Given the description of an element on the screen output the (x, y) to click on. 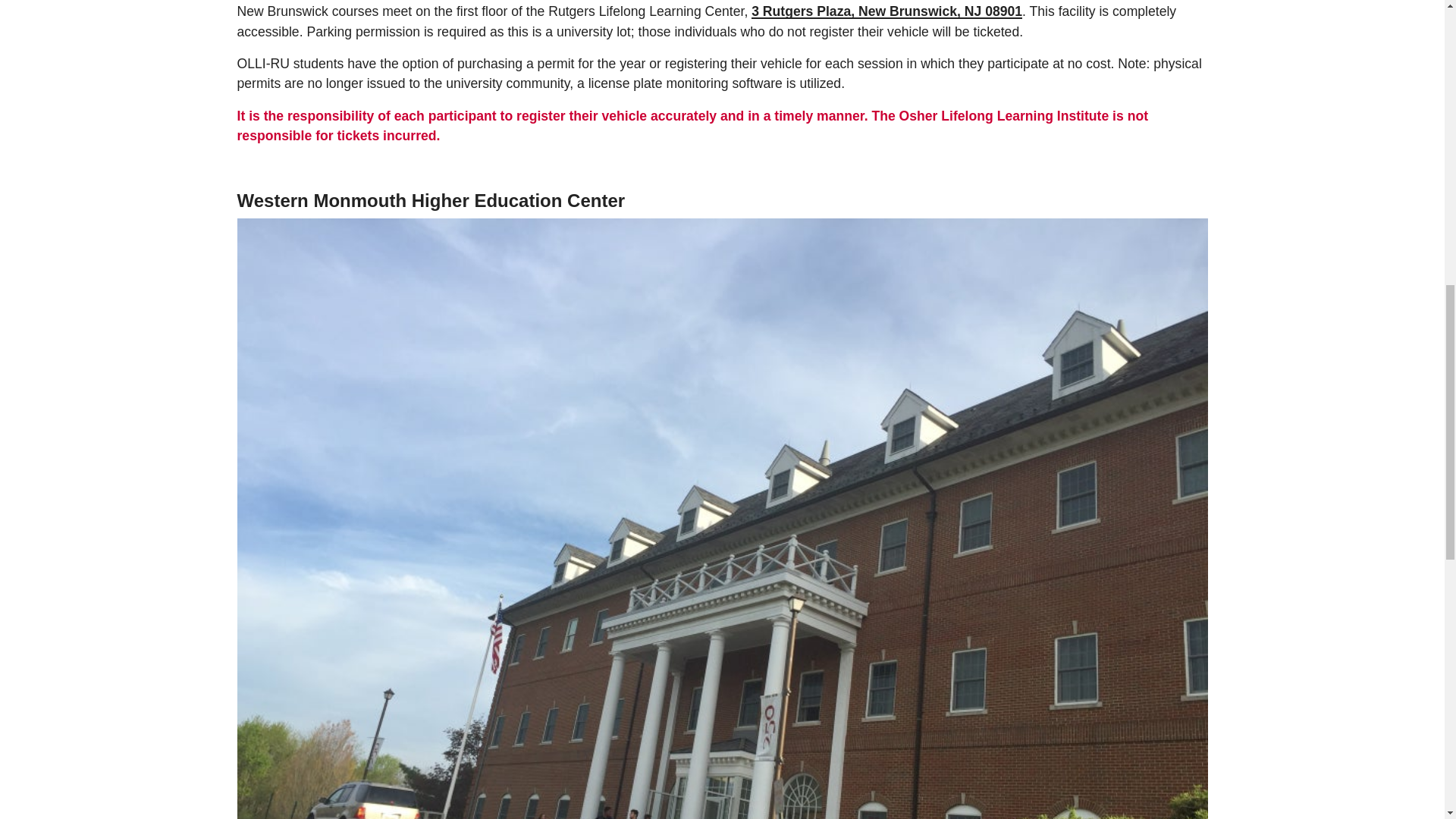
3 Rutgers Plaza, New Brunswick, NJ 08901 (886, 11)
